Given the description of an element on the screen output the (x, y) to click on. 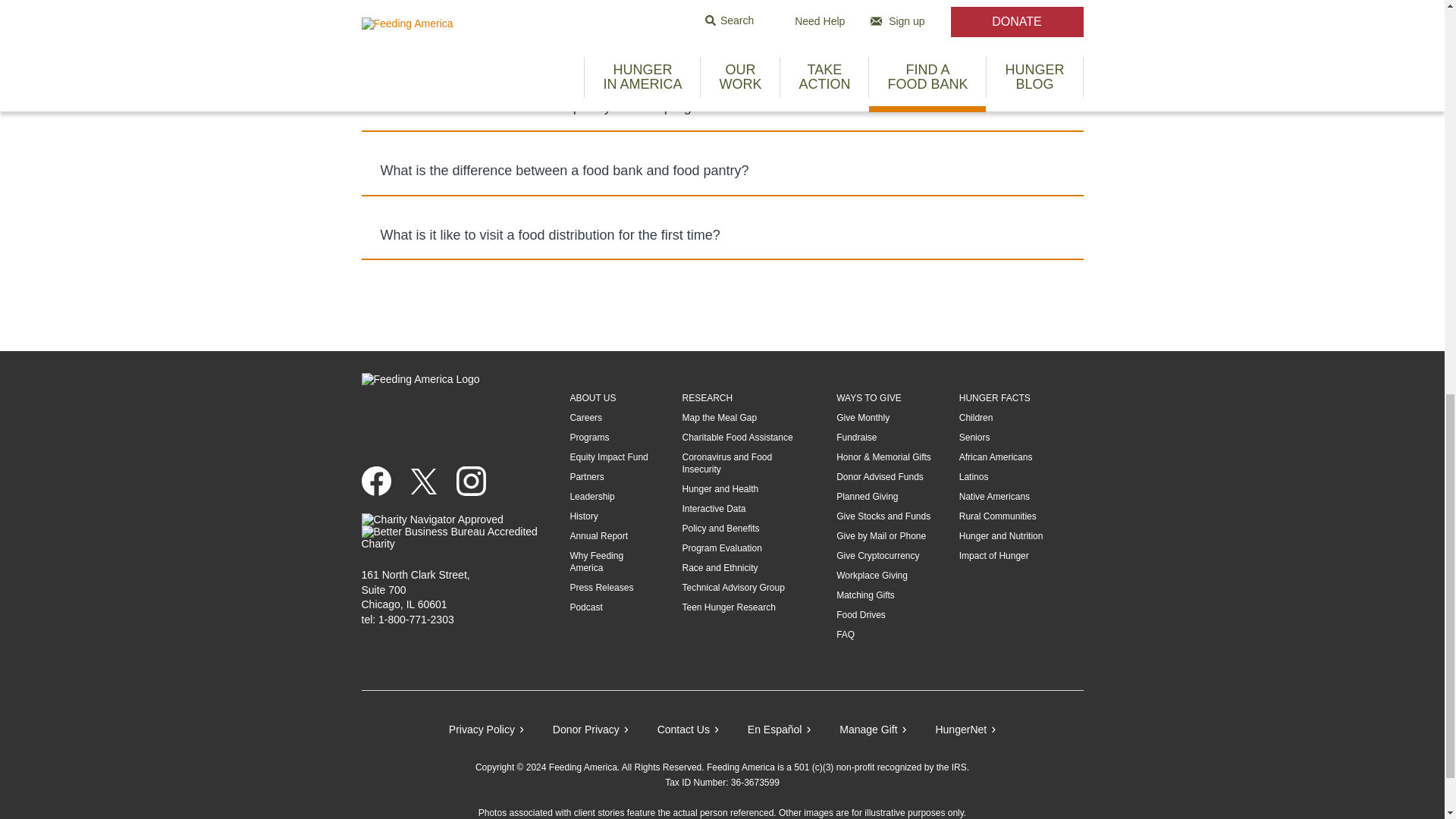
Annual Report (598, 535)
Food Security Equity Impact Fund (608, 457)
Instagram (477, 481)
Map the Meal Gap (719, 417)
Our History (582, 516)
X.com (429, 480)
Visit our X.com feedVisit our X.com feed (429, 480)
Visit our Instagram (477, 481)
Our Programs (588, 437)
Research (706, 398)
Career Opportunities (585, 417)
tel: 1-800-771-2303 (406, 619)
Visit our X.com feed (423, 481)
Facebook (382, 481)
